Given the description of an element on the screen output the (x, y) to click on. 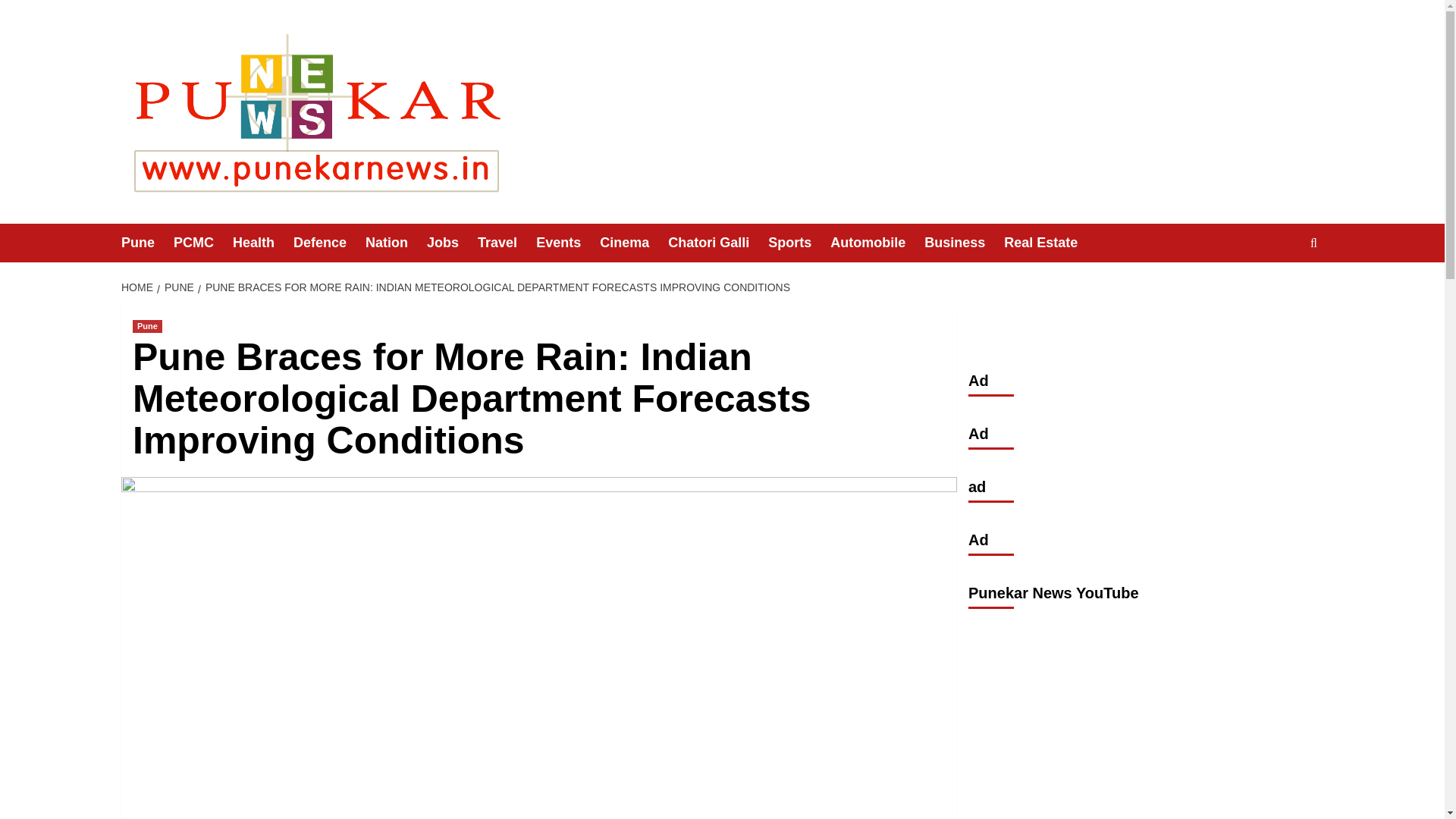
Pune (146, 242)
Business (964, 242)
Automobile (876, 242)
Jobs (451, 242)
Real Estate (1050, 242)
Defence (329, 242)
Search (1278, 289)
Travel (506, 242)
Chatori Galli (718, 242)
Events (567, 242)
Nation (395, 242)
Pune (146, 326)
Health (263, 242)
